Given the description of an element on the screen output the (x, y) to click on. 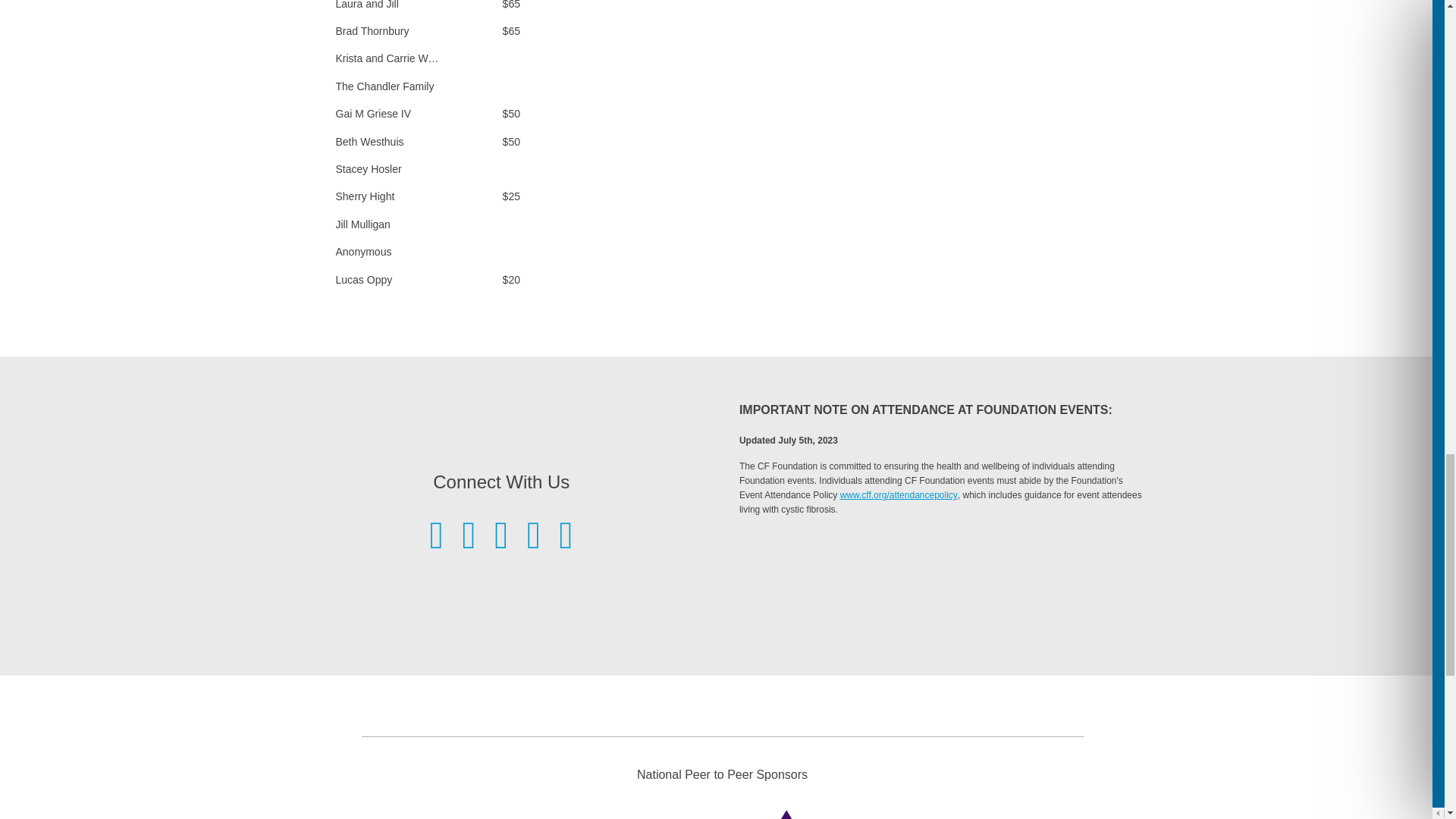
Follow link (899, 494)
